Given the description of an element on the screen output the (x, y) to click on. 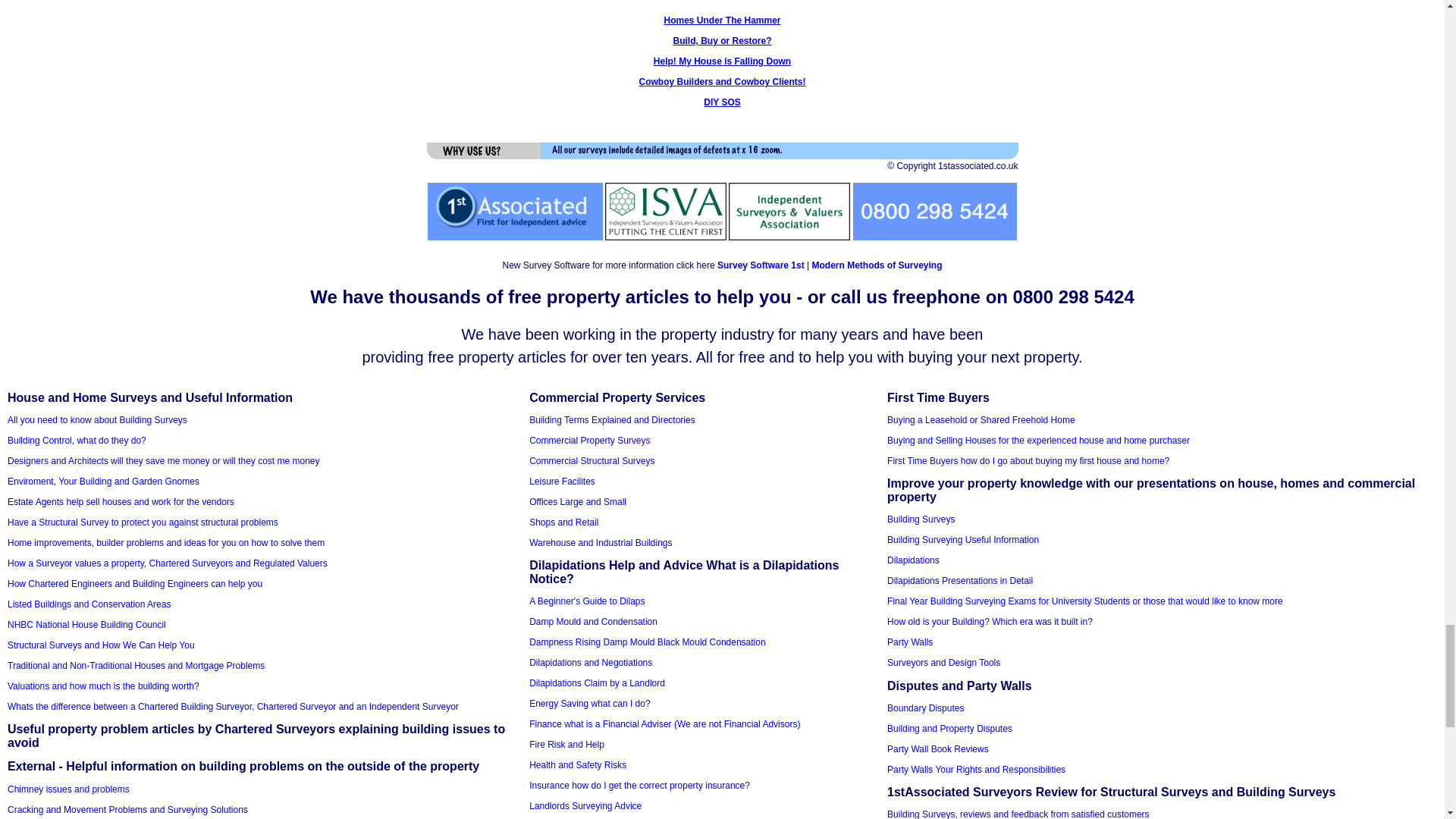
 Structural Surveys and How We Can Help You (101, 644)
Chimney issues and problems (68, 788)
Legal (951, 165)
 Listed Buildings and Conservation Areas (88, 603)
How Chartered Engineers and Building Engineers can help you (134, 583)
 Estate Agents help sell houses and work for the vendors (120, 501)
 How Chartered Engineers and Building Engineers can help you (134, 583)
Modern Methods of Surveying (876, 265)
 Building Control, what do they do? (77, 439)
Build, Buy or Restore? (721, 40)
Cowboy Builders and Cowboy Clients! (722, 81)
Homes Under The Hammer (721, 20)
